Given the description of an element on the screen output the (x, y) to click on. 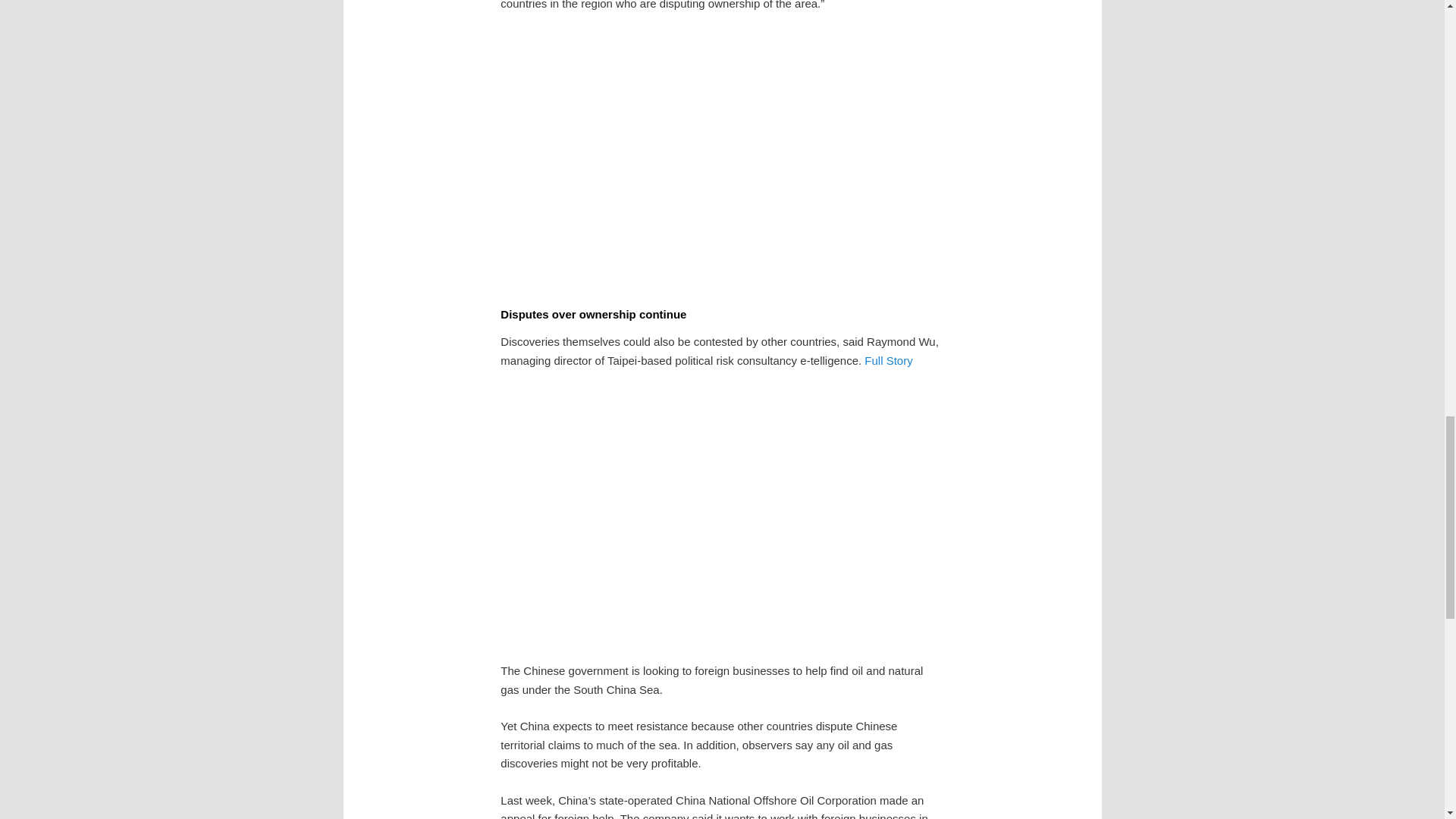
Geopolitics of the South China Sea (721, 156)
Why China is building islands in the South China Sea (721, 513)
Full Story (888, 359)
